Given the description of an element on the screen output the (x, y) to click on. 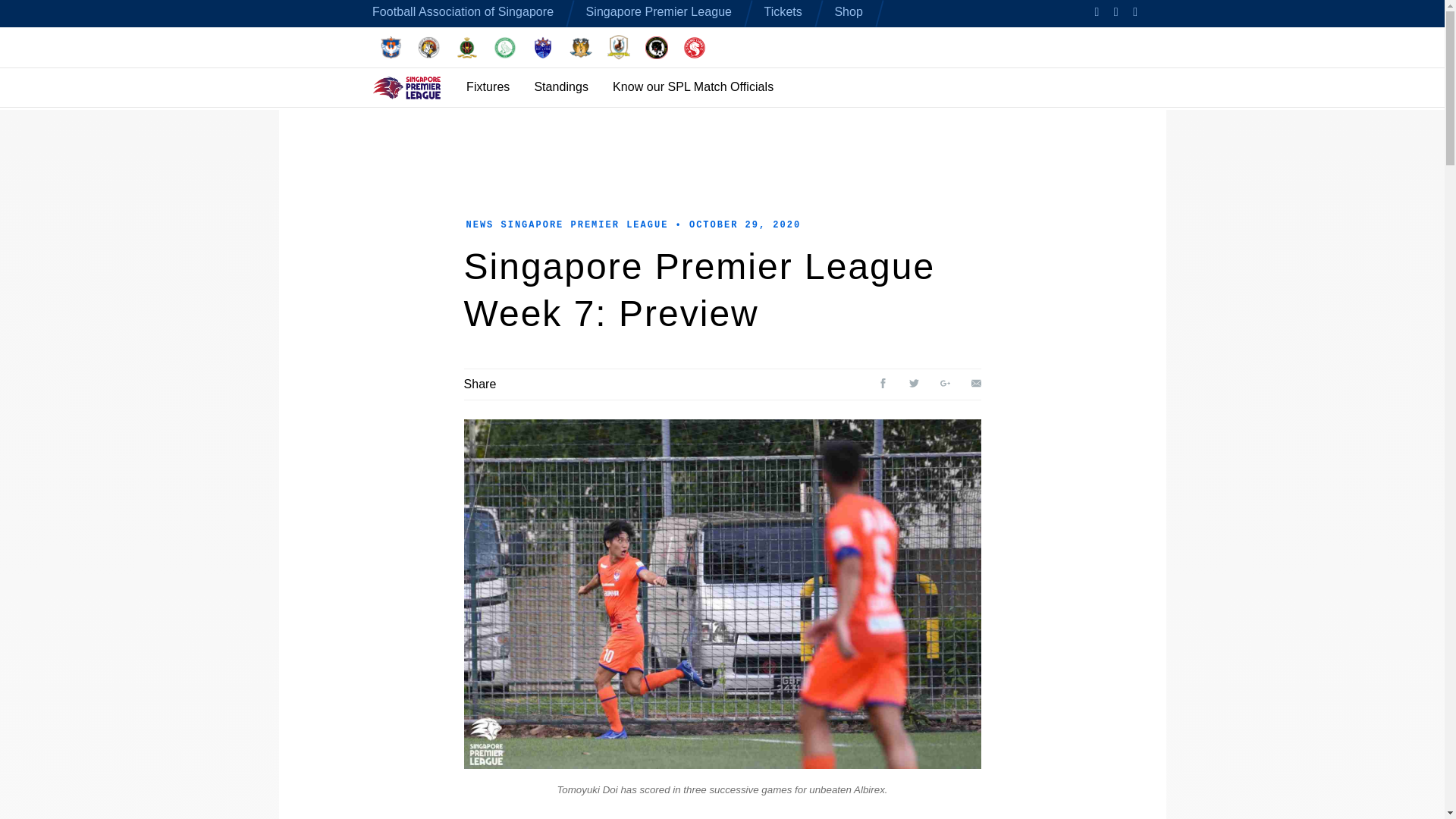
Shop (848, 11)
Tickets (782, 11)
Singapore Premier League (659, 11)
Know our SPL Match Officials (692, 87)
Football Association of Singapore (462, 11)
Fixtures (487, 87)
Standings (561, 87)
